Given the description of an element on the screen output the (x, y) to click on. 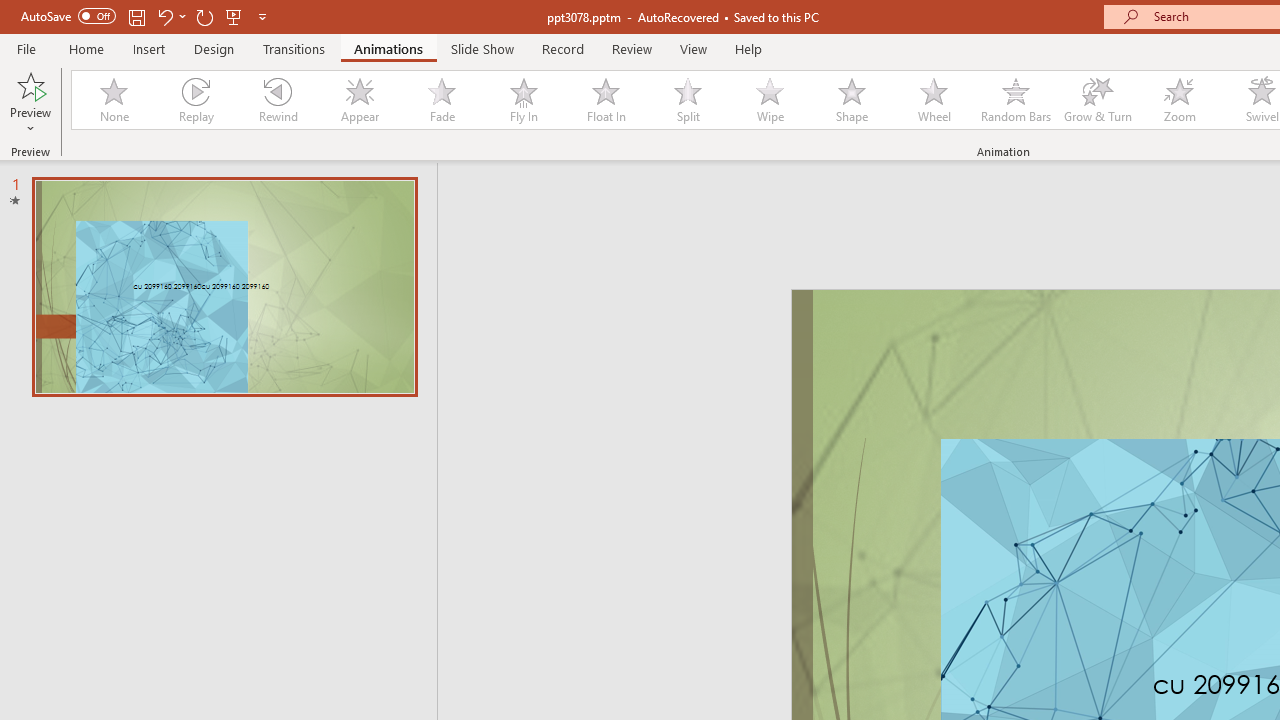
Grow & Turn (1098, 100)
None (113, 100)
Wipe (770, 100)
